Given the description of an element on the screen output the (x, y) to click on. 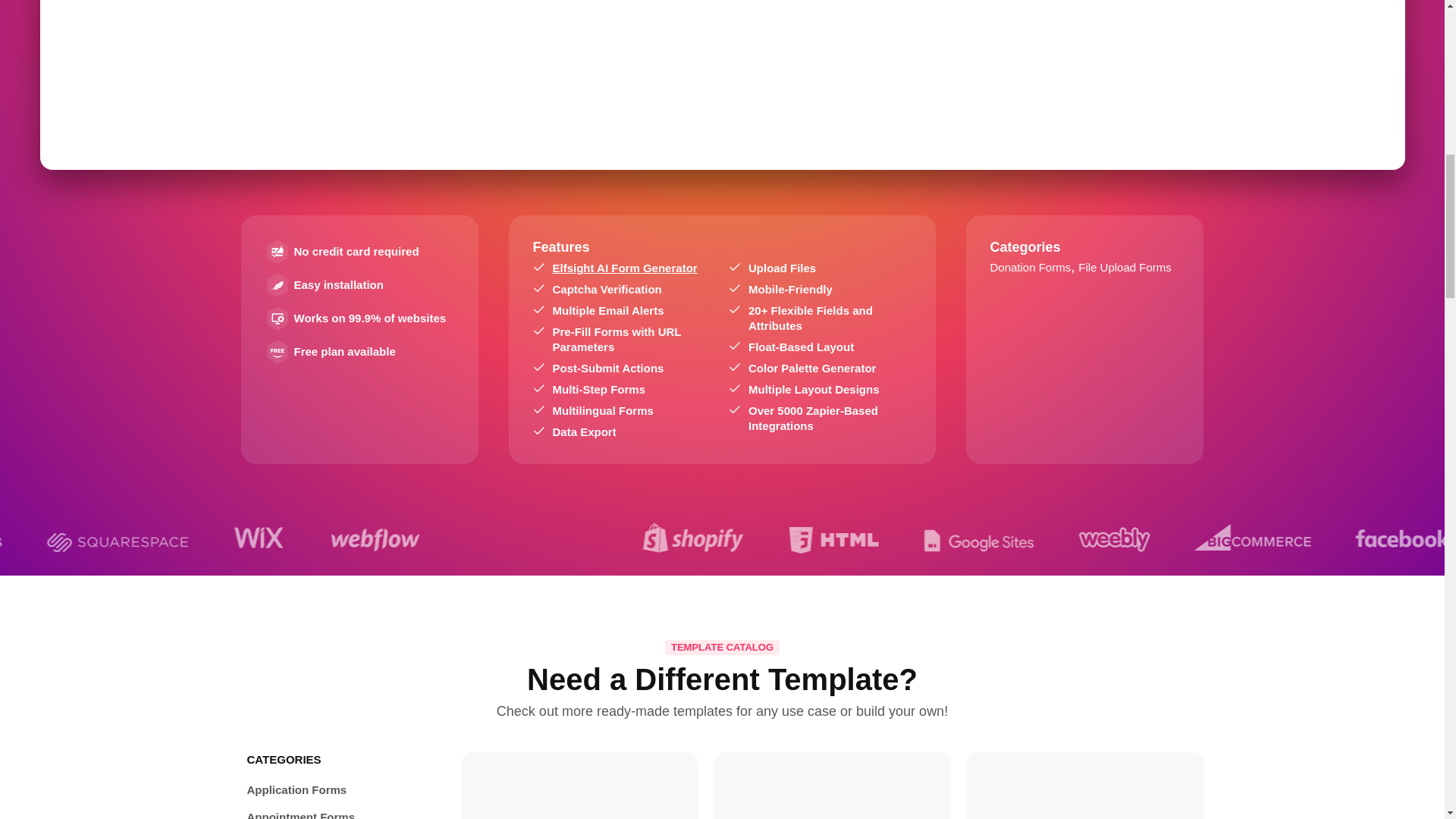
Resume File Upload Form (832, 790)
Image Upload Form (579, 790)
Paypal Donation Form (1084, 790)
